Given the description of an element on the screen output the (x, y) to click on. 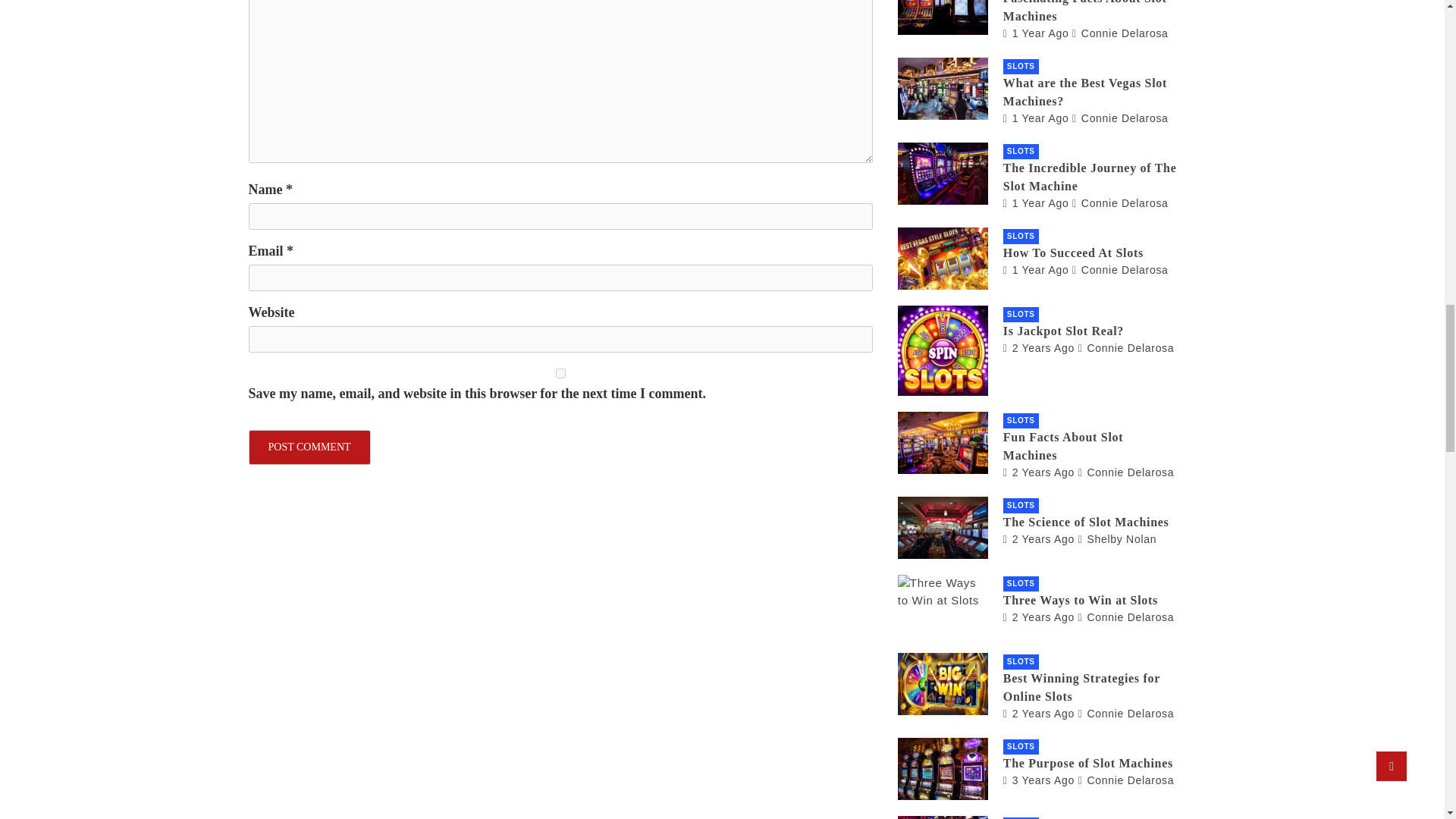
Fascinating Facts About Slot Machines (1035, 33)
Fun Facts About Slot Machines (1038, 472)
yes (560, 373)
Post Comment (309, 447)
The Incredible Journey of The Slot Machine (1035, 203)
The Science of Slot Machines (1038, 539)
How To Succeed At Slots (1035, 269)
What are the Best Vegas Slot Machines? (1035, 118)
Is Jackpot Slot Real? (1038, 347)
